Given the description of an element on the screen output the (x, y) to click on. 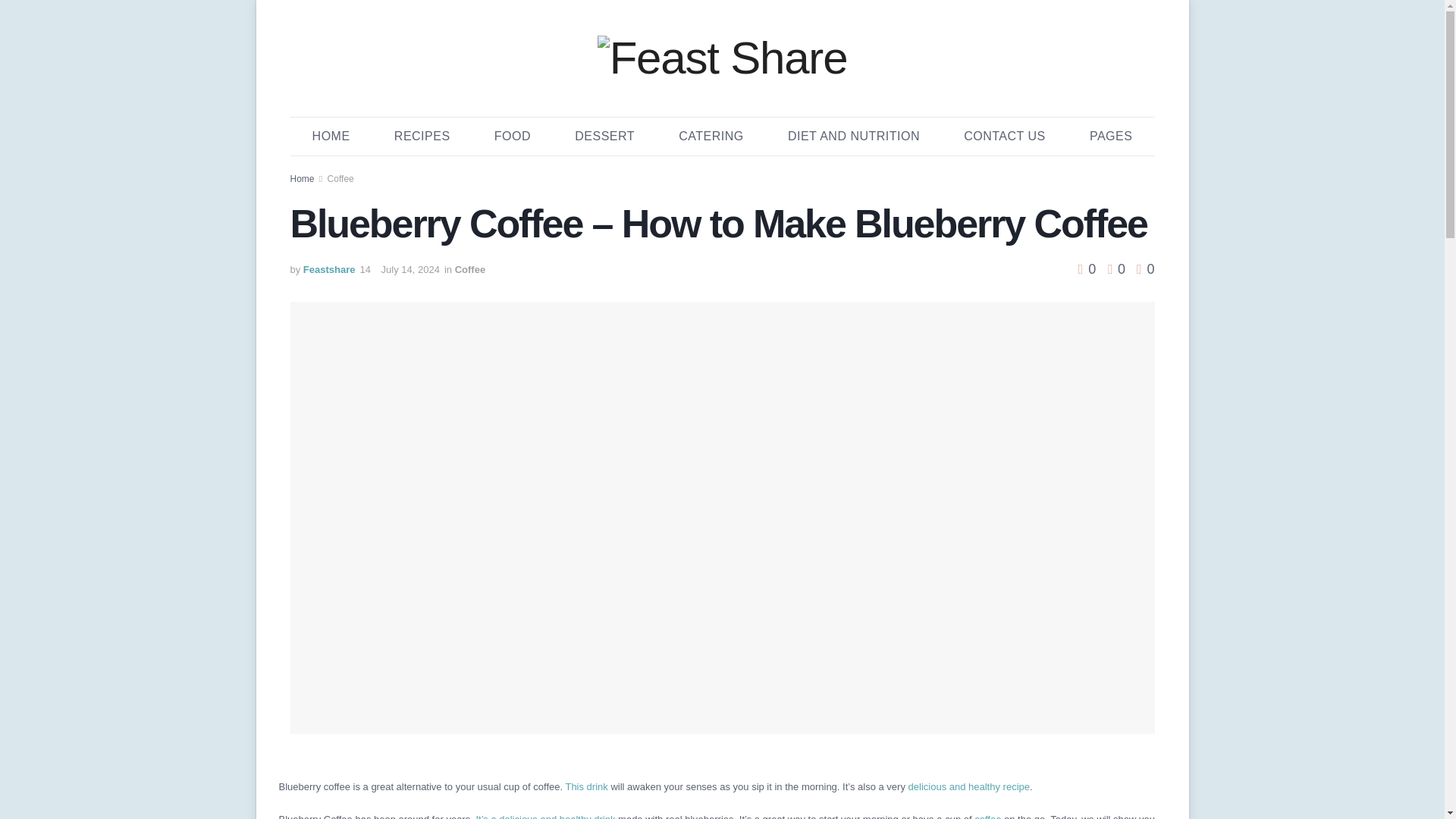
DIET AND NUTRITION (853, 136)
FOOD (512, 136)
PAGES (1110, 136)
Energize Your Mind With Energy Kapsul from Coffee Bean (987, 816)
RECIPES (421, 136)
HOME (330, 136)
DESSERT (604, 136)
CONTACT US (1004, 136)
CATERING (710, 136)
